Given the description of an element on the screen output the (x, y) to click on. 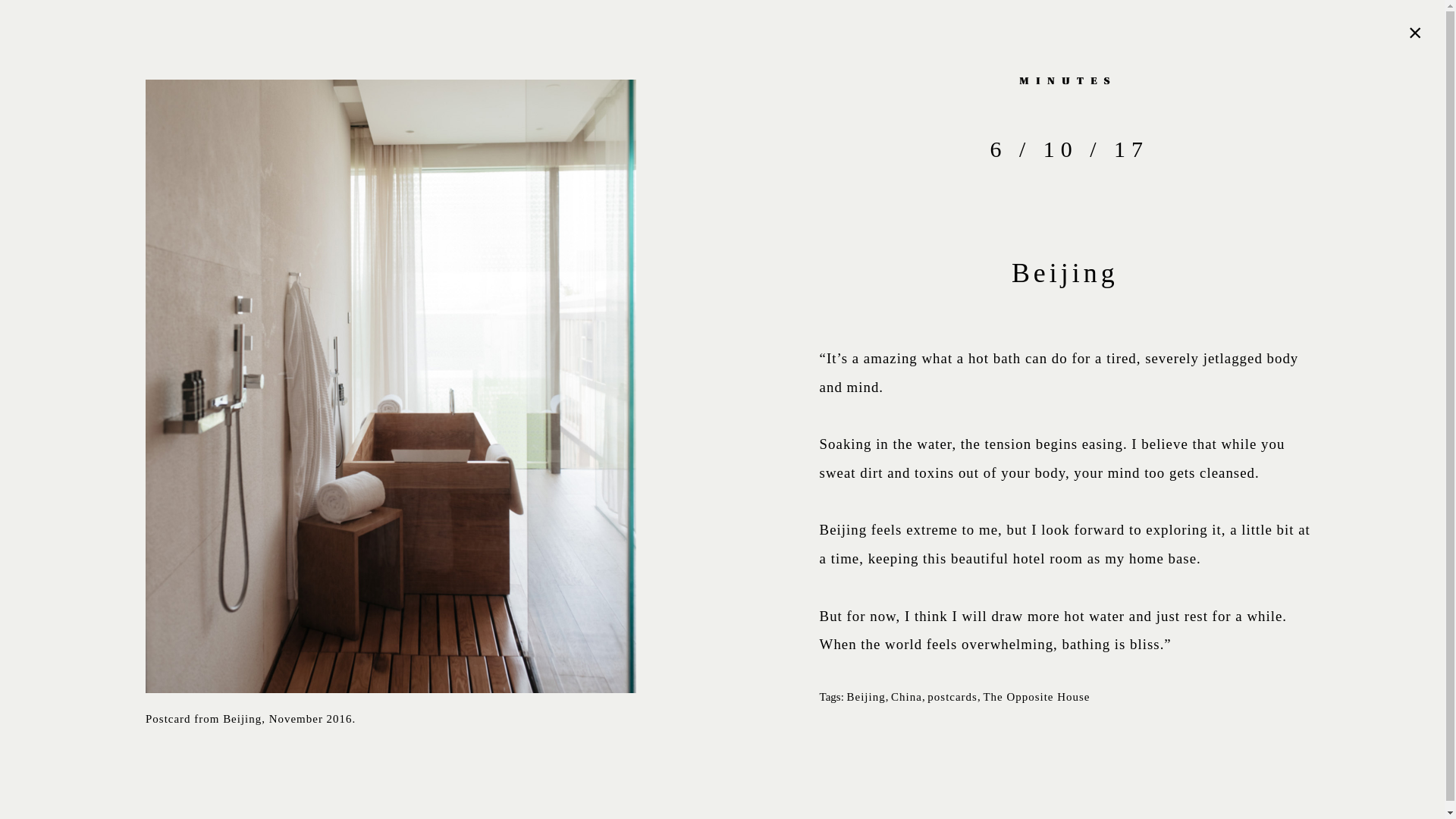
postcards (951, 696)
Beijing (866, 696)
The Opposite House (1035, 696)
beautiful hotel room (1016, 558)
China (906, 696)
